Given the description of an element on the screen output the (x, y) to click on. 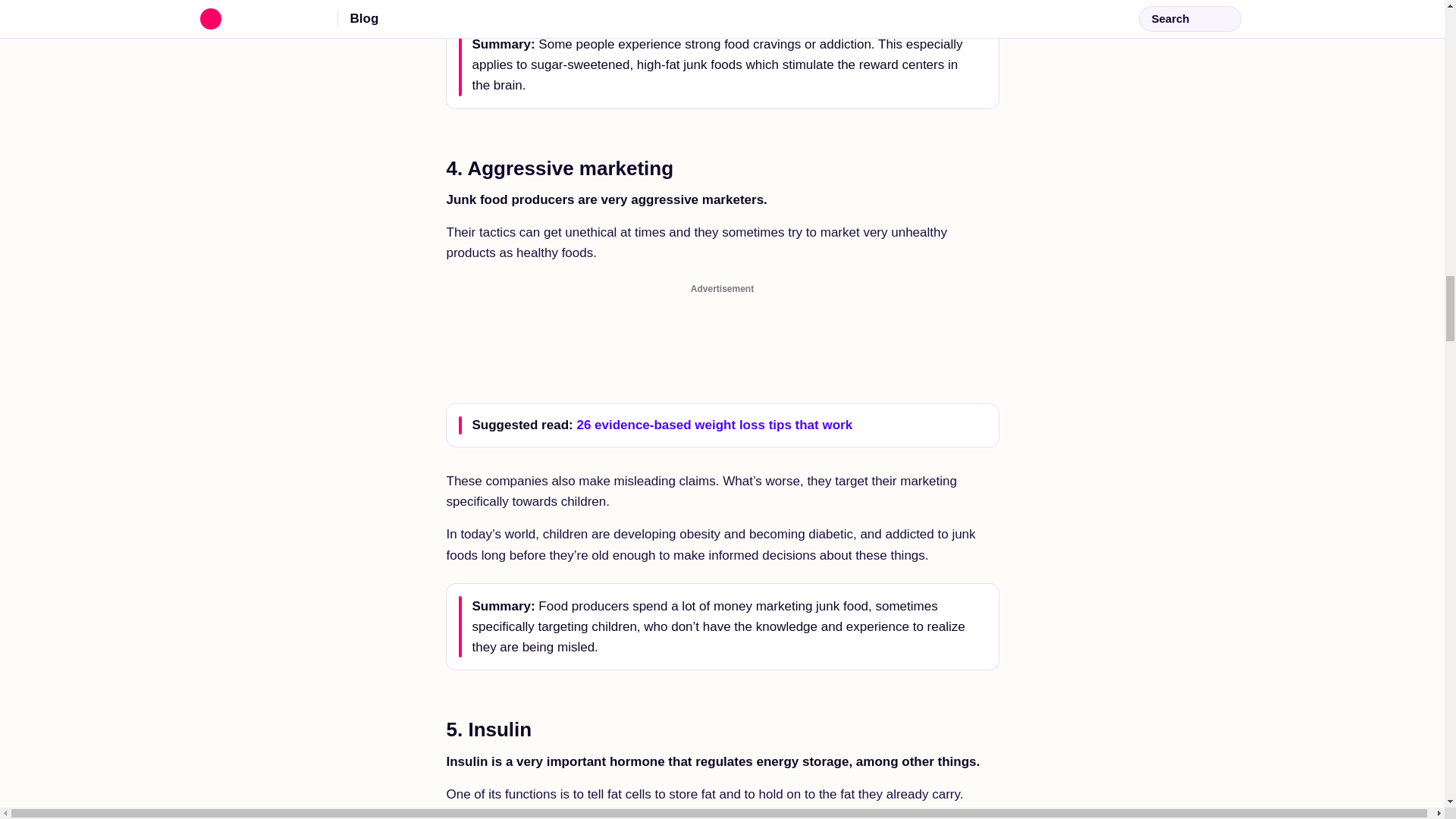
26 evidence-based weight loss tips that work (713, 424)
